Given the description of an element on the screen output the (x, y) to click on. 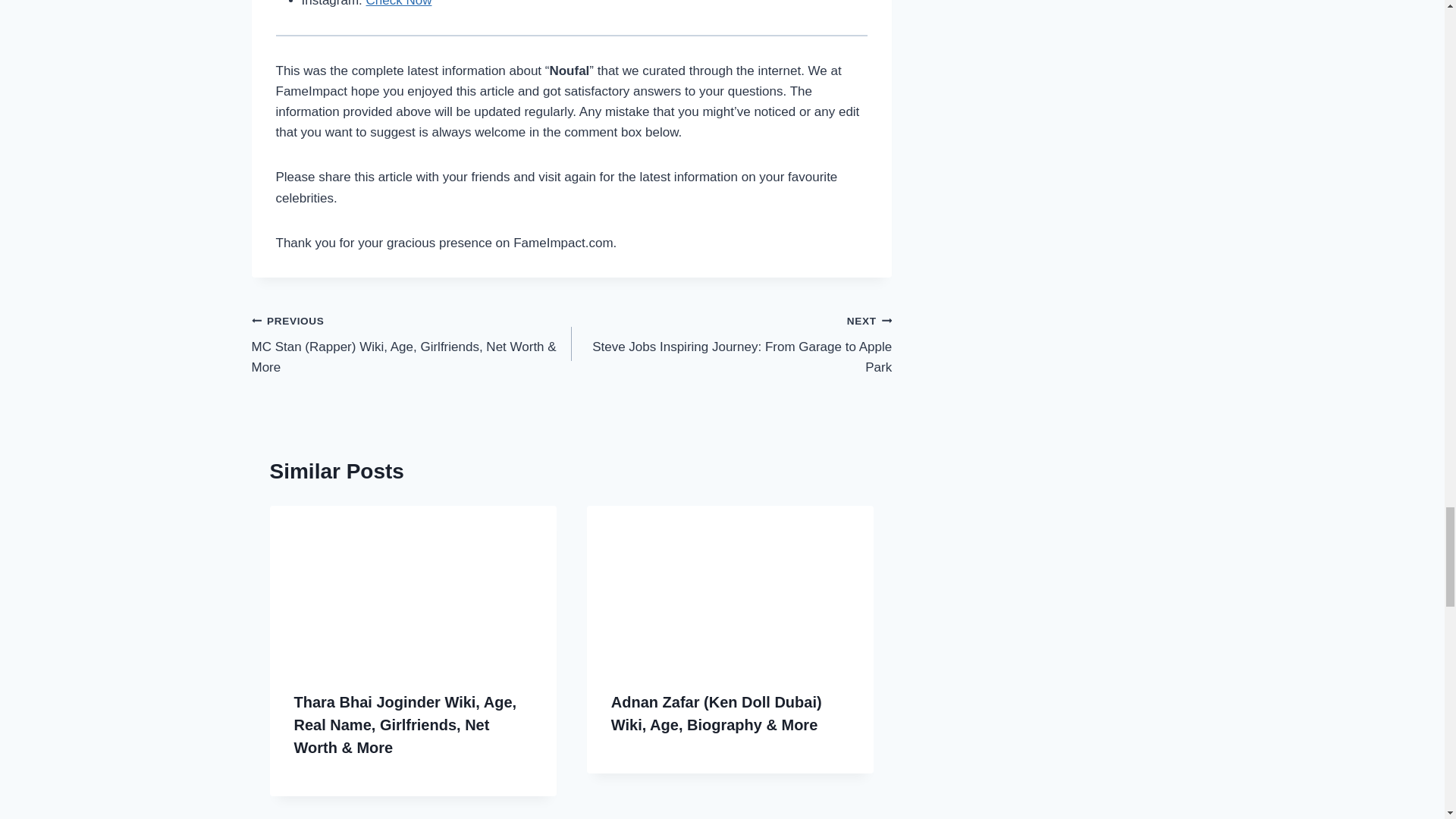
Check Now (399, 3)
